Given the description of an element on the screen output the (x, y) to click on. 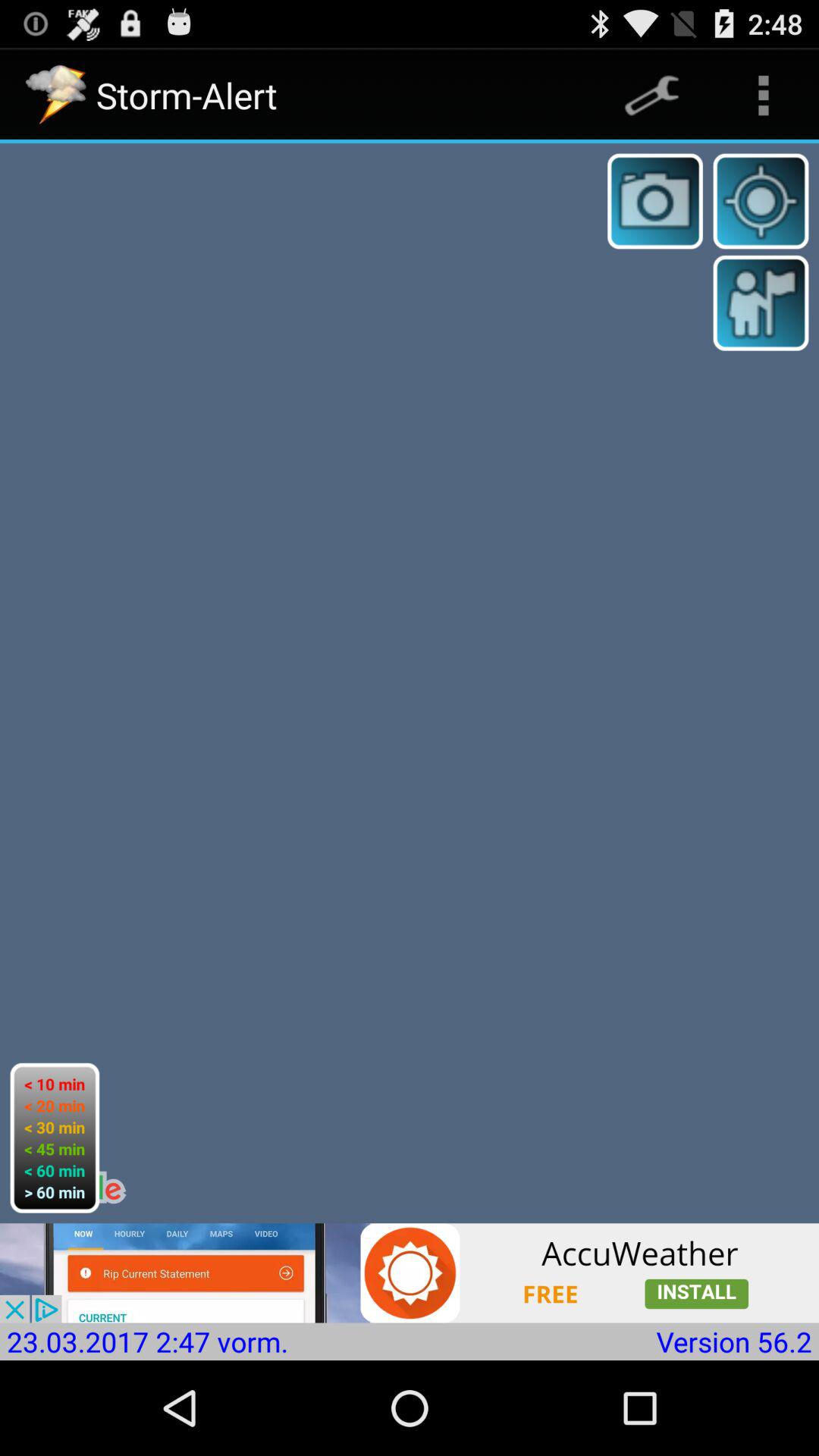
turn on the item at the center (409, 683)
